Given the description of an element on the screen output the (x, y) to click on. 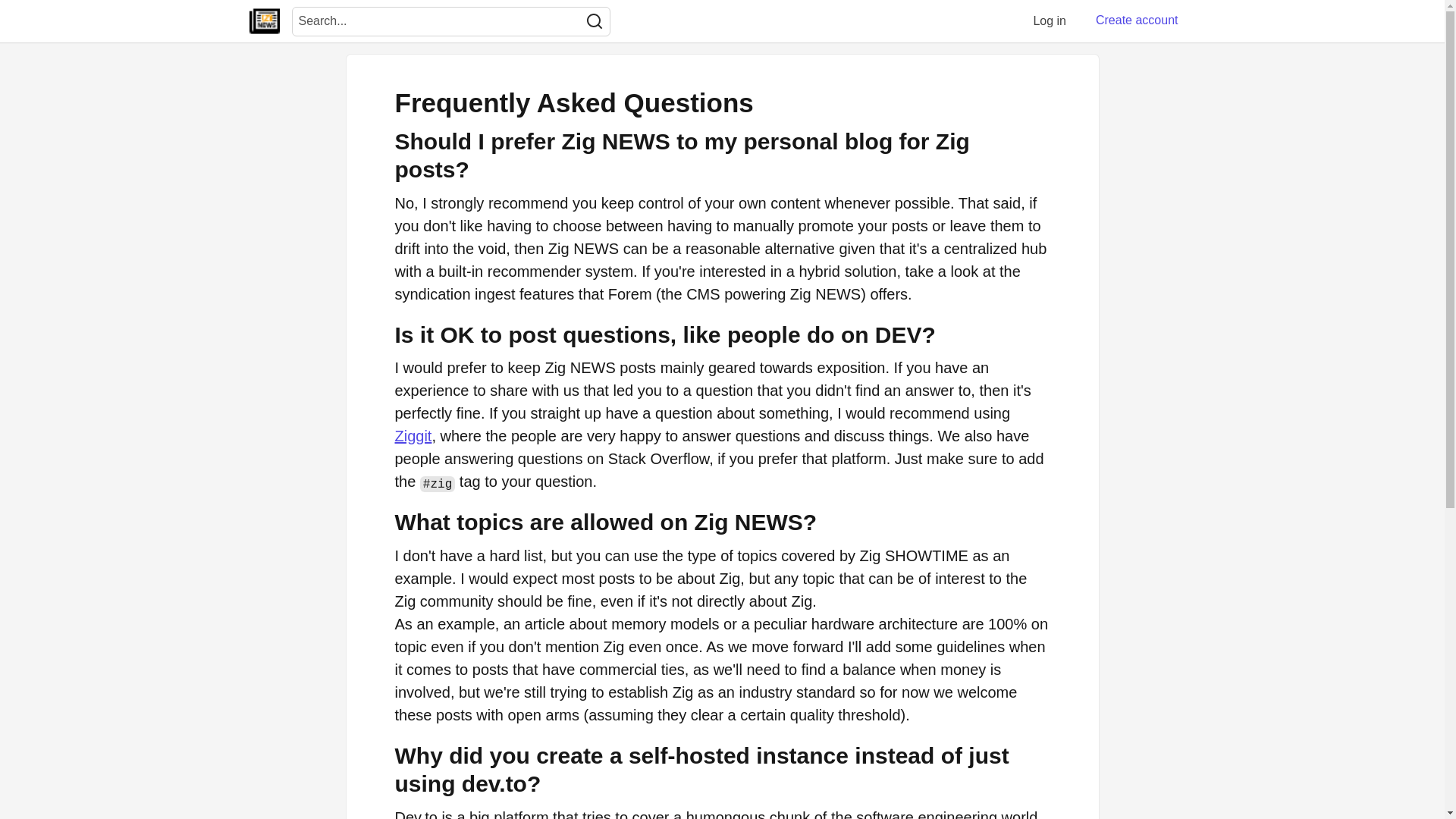
Create account (1136, 20)
Log in (1049, 20)
Ziggit (412, 435)
